Given the description of an element on the screen output the (x, y) to click on. 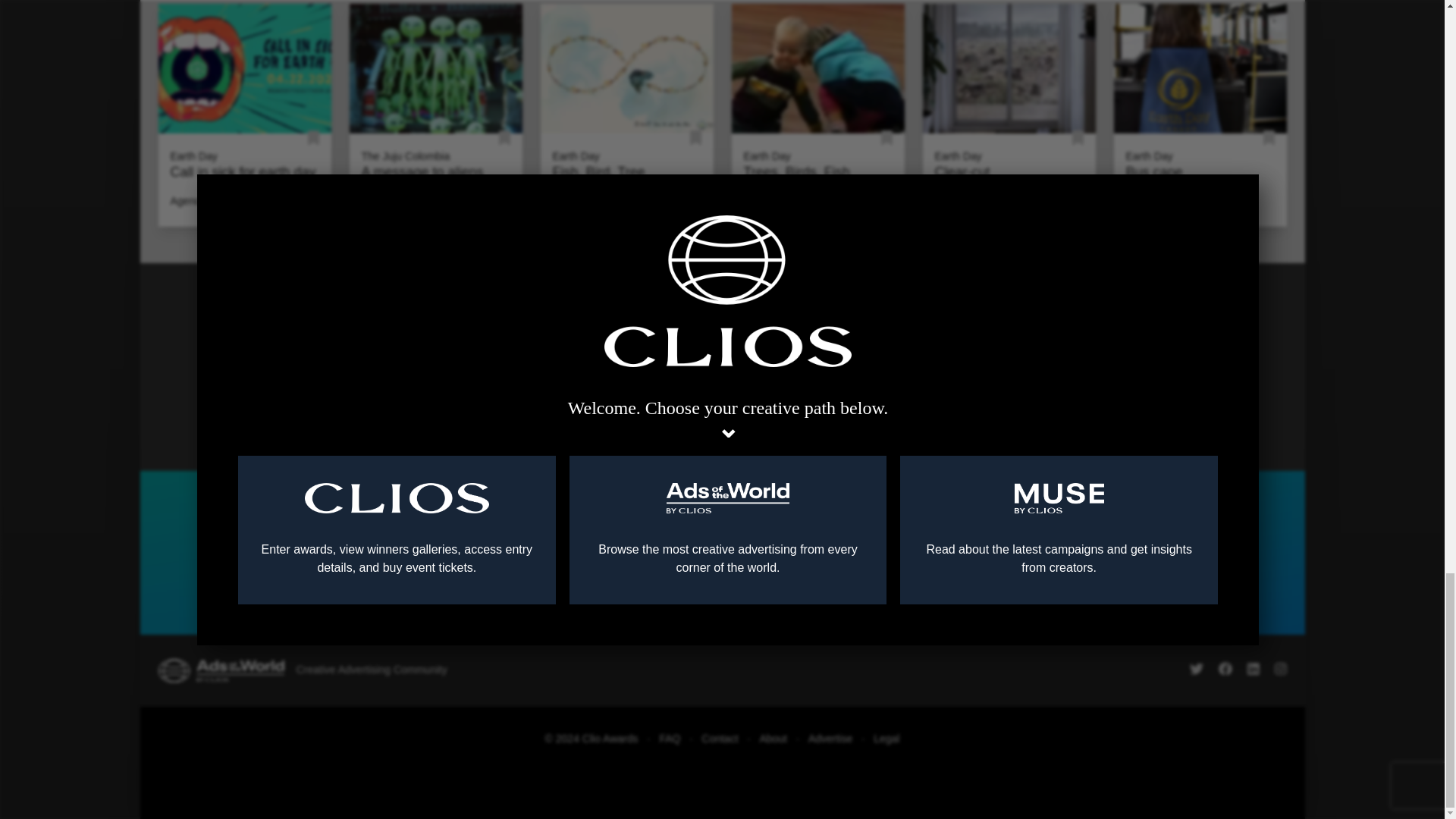
Login to Bookmark (695, 137)
Login to Bookmark (886, 137)
Login to Bookmark (1269, 137)
Login to Bookmark (1077, 137)
Login to Bookmark (505, 137)
Login to Bookmark (312, 137)
